Given the description of an element on the screen output the (x, y) to click on. 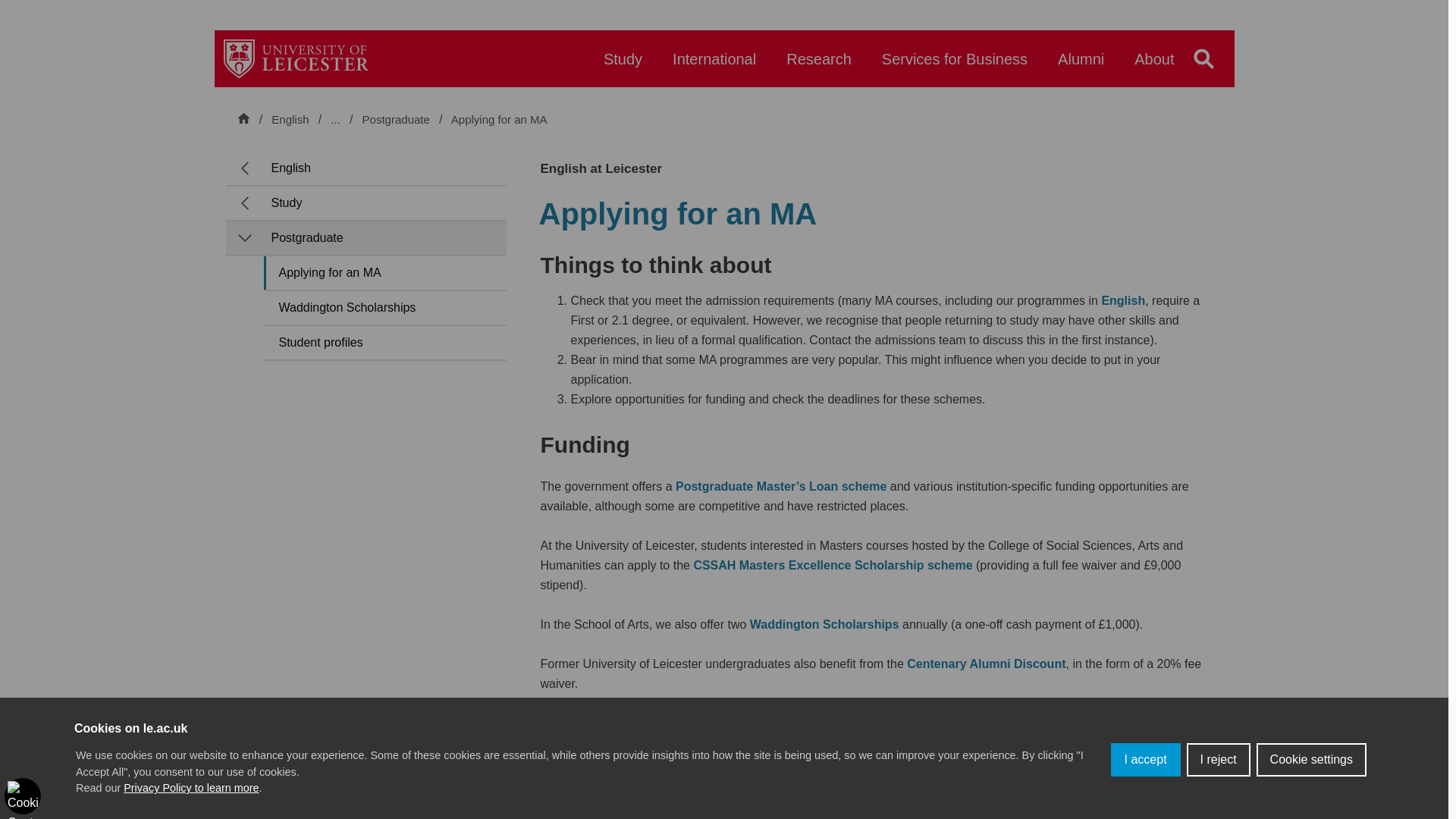
Cookie settings (1311, 759)
Applying for an MA (499, 119)
Return to homepage (295, 58)
Study (376, 119)
Privacy Policy to learn more (191, 787)
I reject (1218, 759)
Postgraduate (397, 119)
English (289, 119)
I accept (1145, 759)
Study (623, 65)
